Given the description of an element on the screen output the (x, y) to click on. 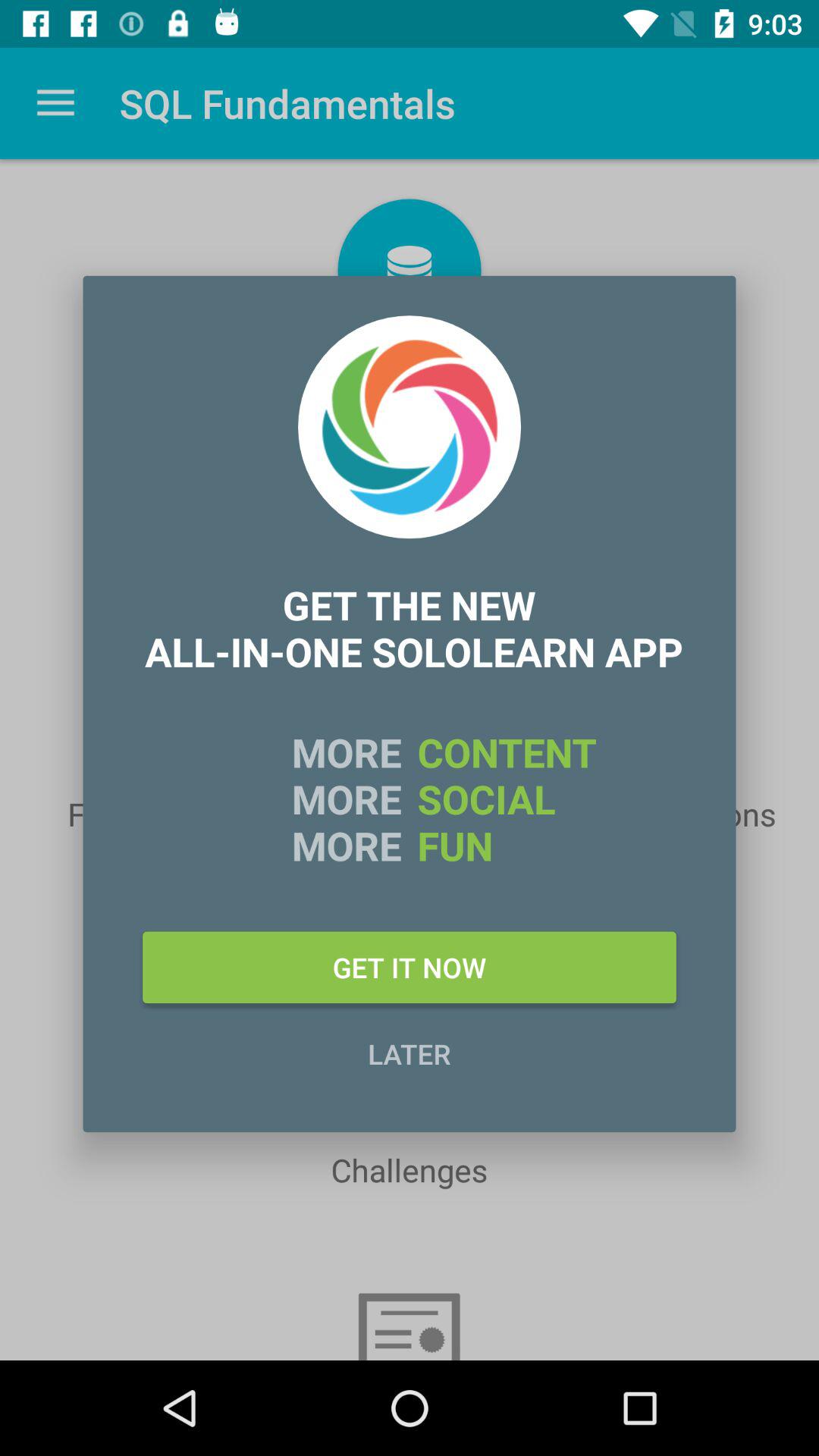
turn off the icon below get it now icon (409, 1053)
